Given the description of an element on the screen output the (x, y) to click on. 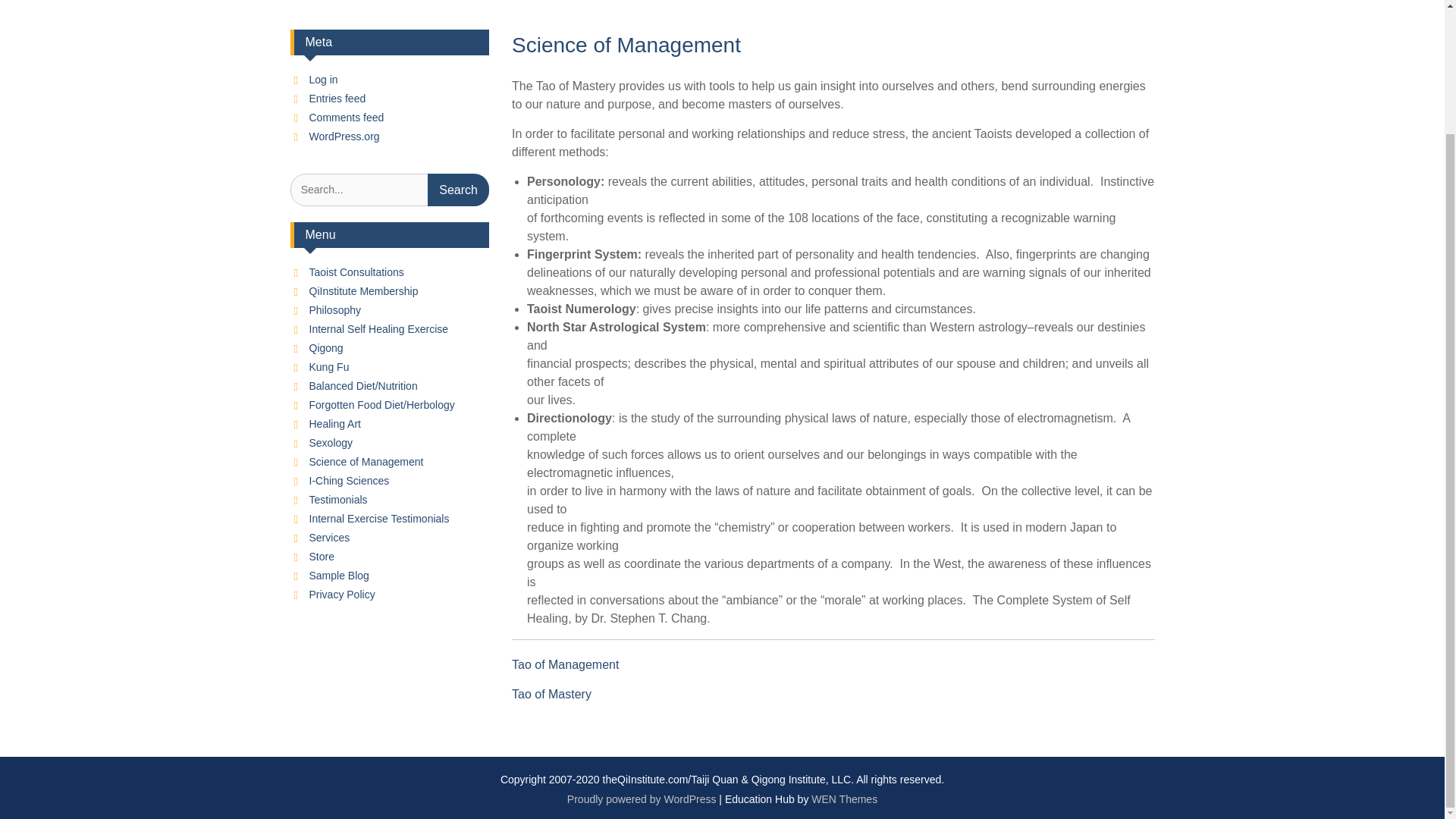
WordPress.org (344, 136)
Entries feed (337, 98)
Taoist Consultations (356, 272)
Comments feed (346, 117)
Search (458, 189)
Search (458, 189)
Tao of Mastery (551, 694)
Tao of Management (565, 664)
Search (458, 189)
Search for: (389, 189)
